Given the description of an element on the screen output the (x, y) to click on. 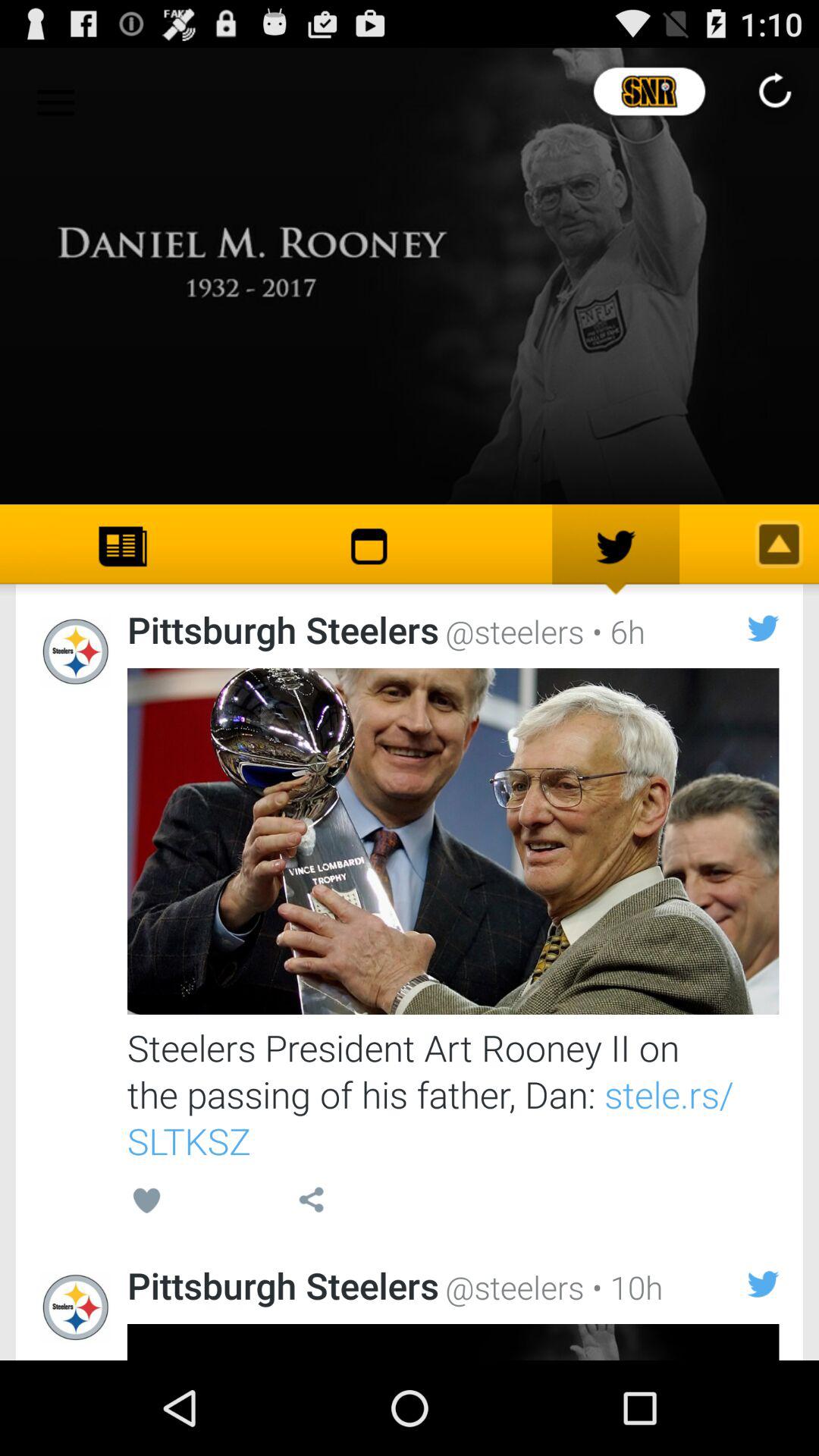
select the icon below steelers president art item (146, 1202)
